Given the description of an element on the screen output the (x, y) to click on. 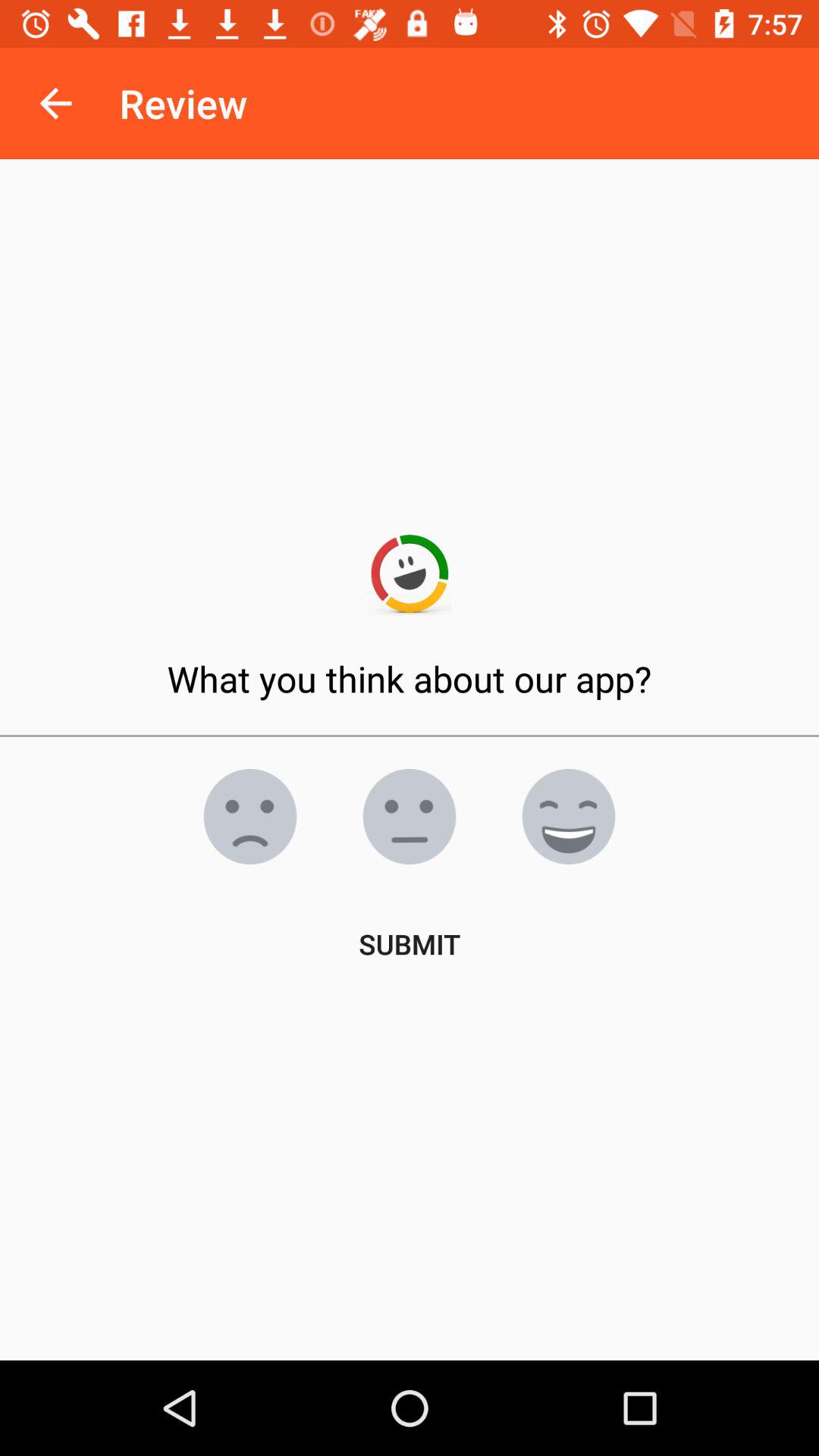
feedback selection (409, 816)
